Given the description of an element on the screen output the (x, y) to click on. 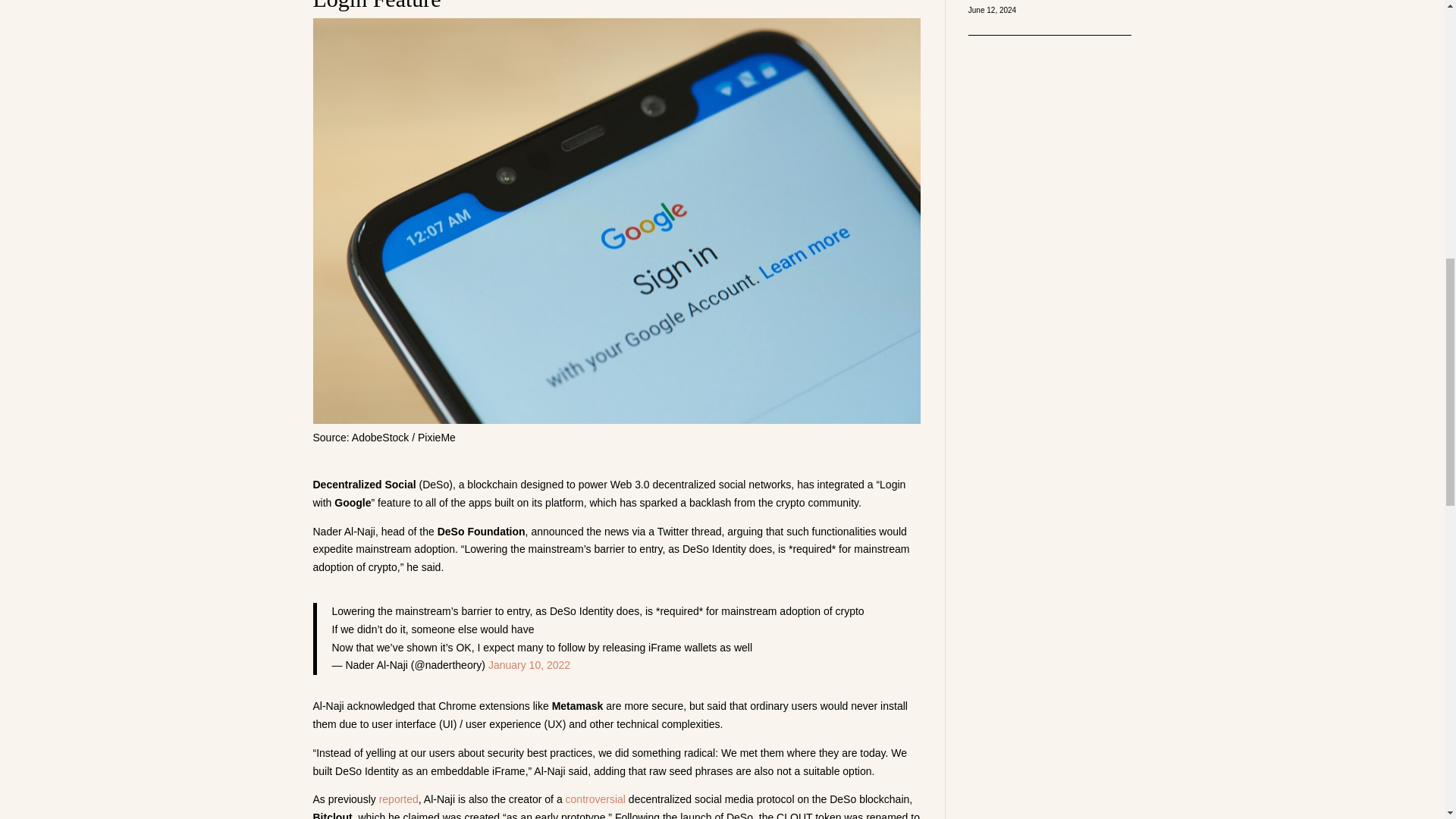
reported (398, 799)
controversial (596, 799)
January 10, 2022 (528, 664)
